Given the description of an element on the screen output the (x, y) to click on. 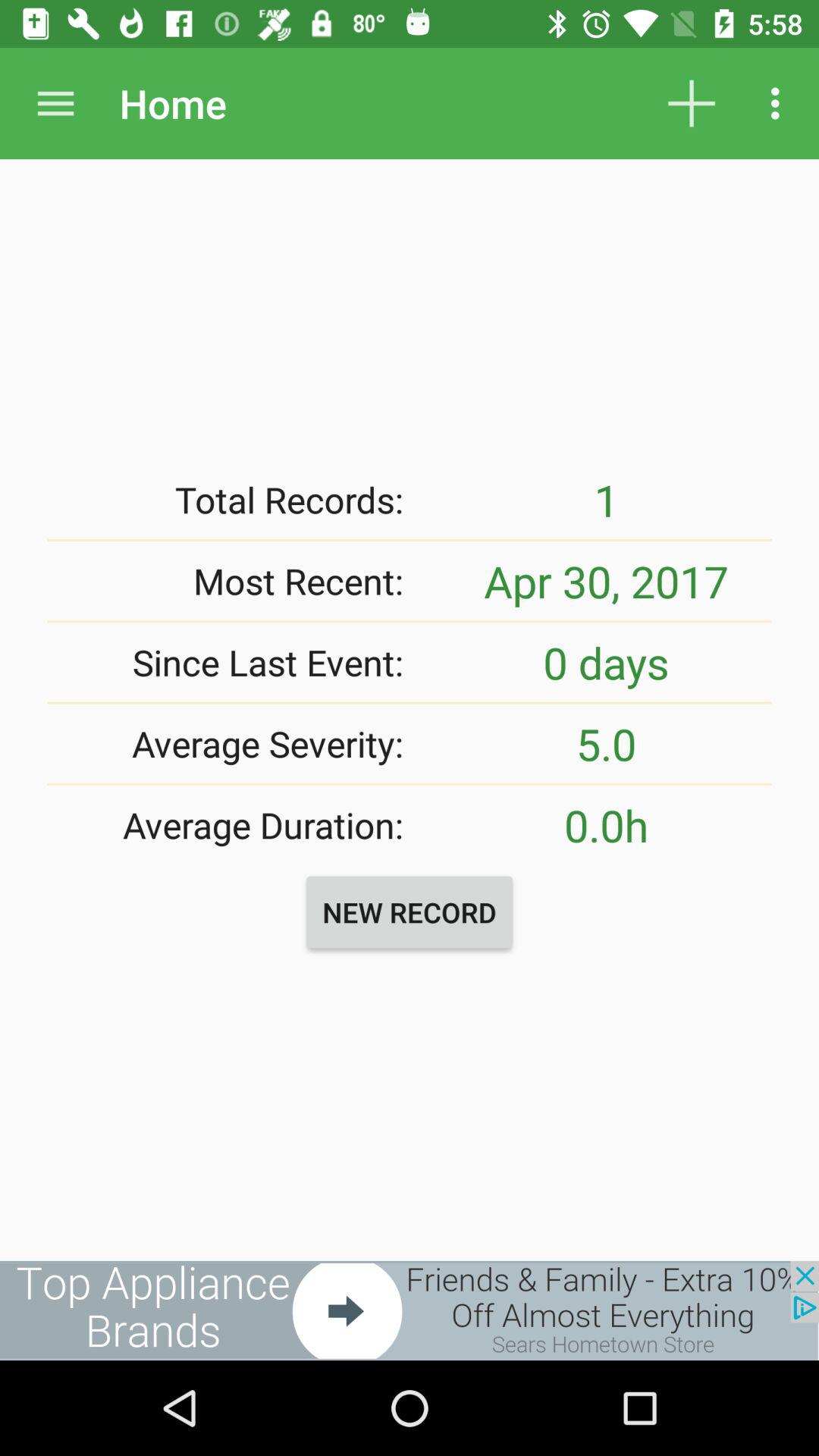
view the top appliances advertisement (409, 1310)
